Given the description of an element on the screen output the (x, y) to click on. 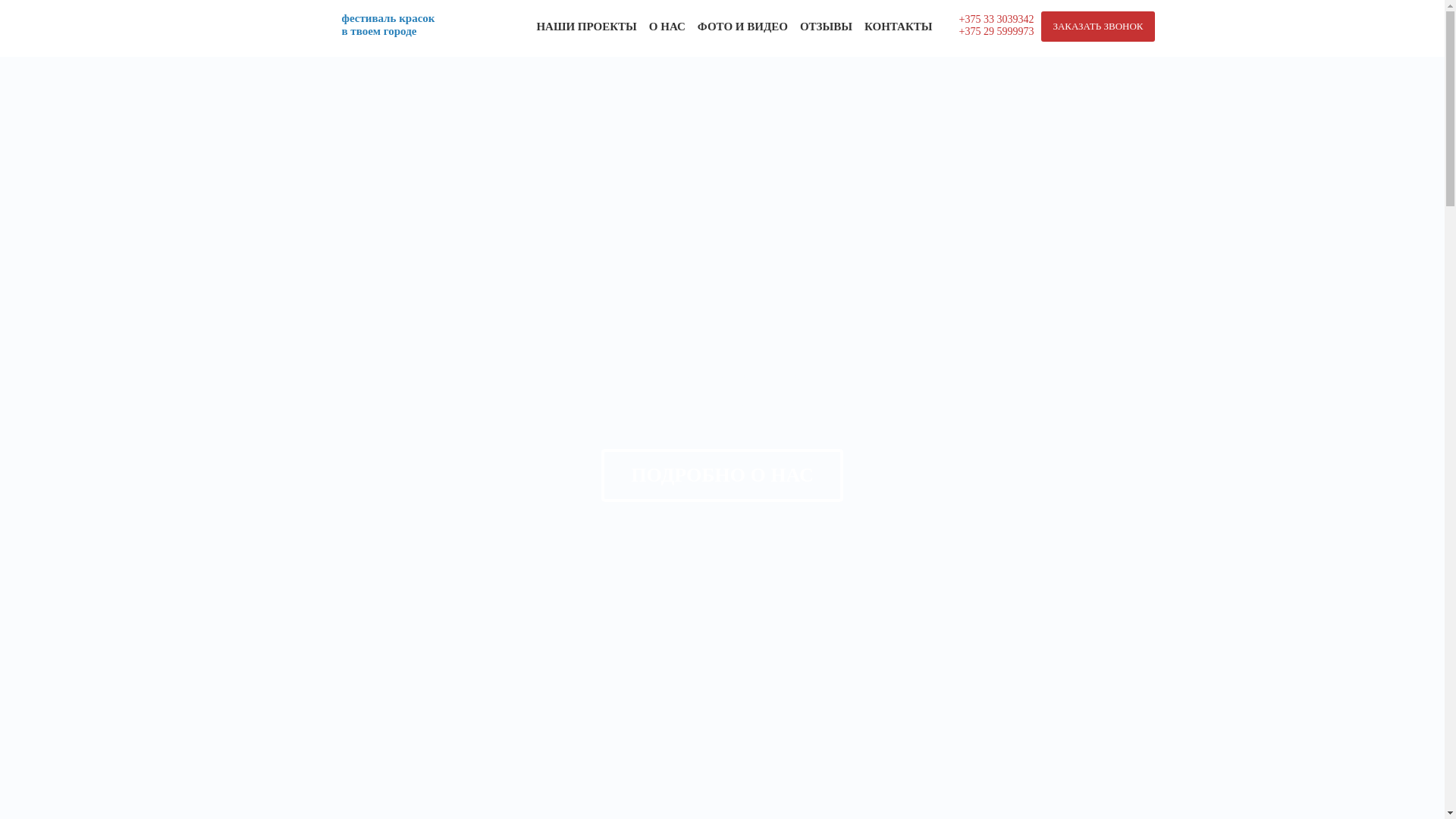
+375 33 3039342 Element type: text (996, 19)
+375 29 5999973 Element type: text (996, 31)
